Given the description of an element on the screen output the (x, y) to click on. 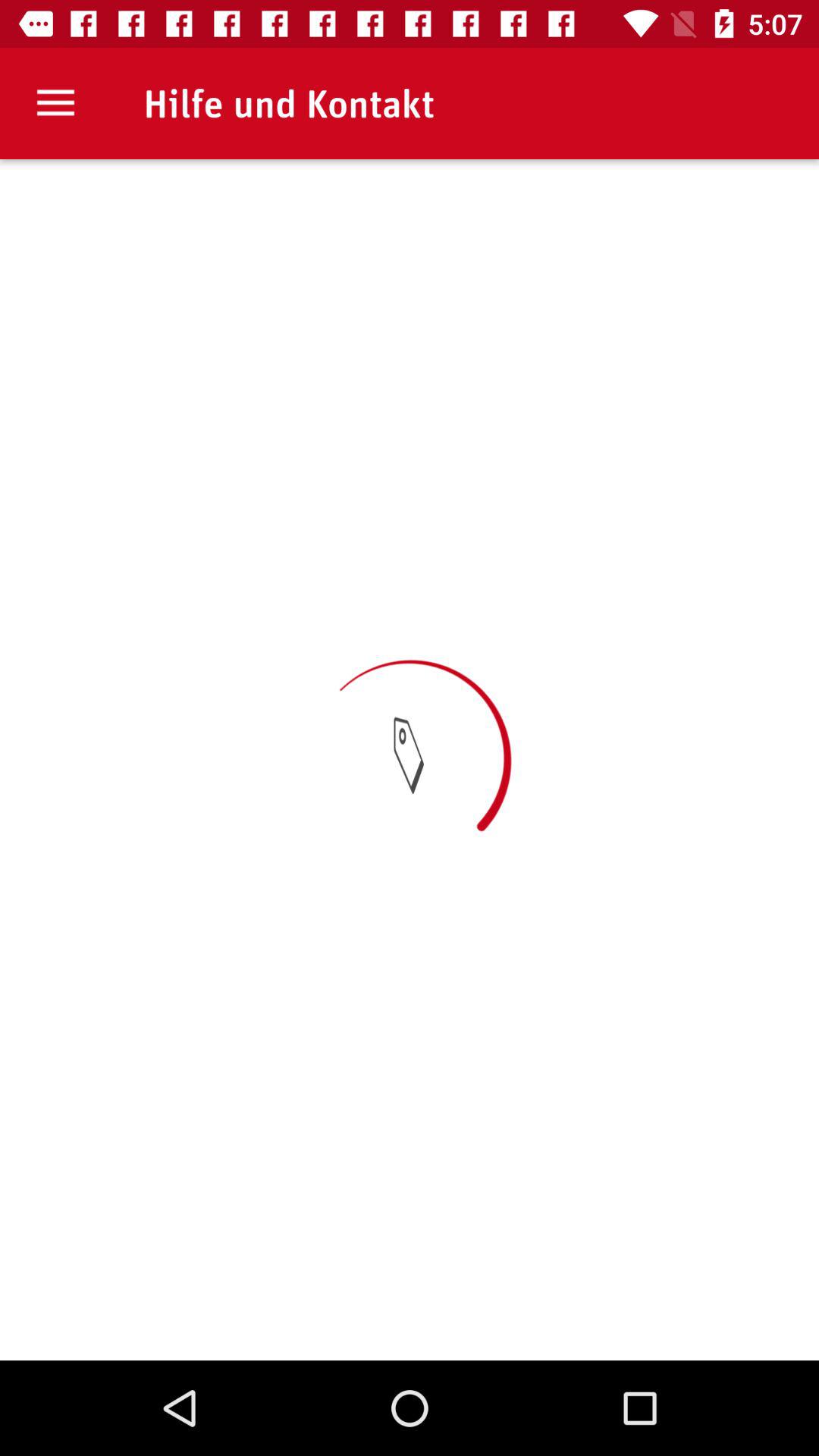
tap item to the left of hilfe und kontakt item (55, 103)
